Given the description of an element on the screen output the (x, y) to click on. 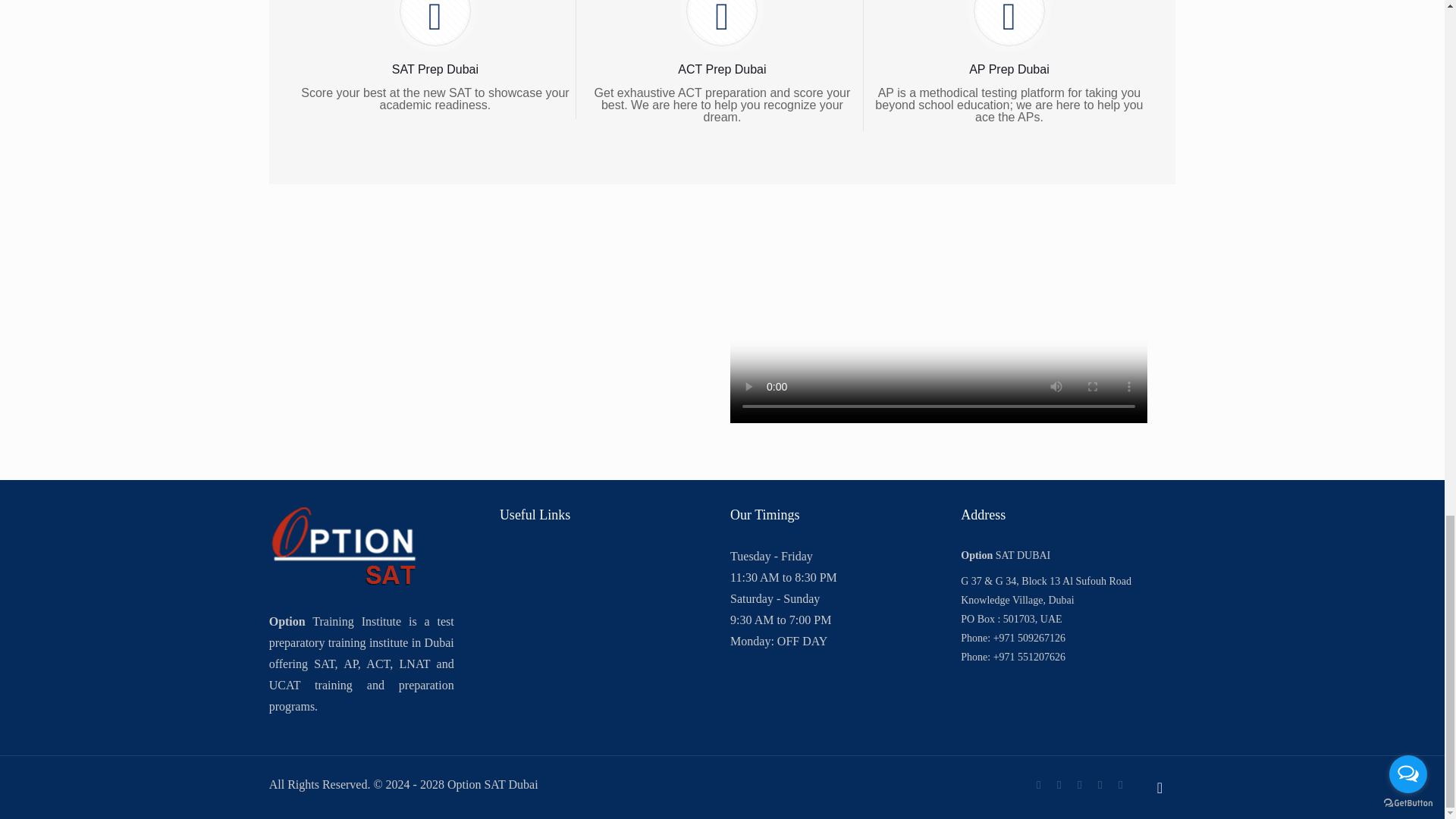
YouTube (1100, 784)
Facebook (1038, 784)
Twitter (1079, 784)
